Given the description of an element on the screen output the (x, y) to click on. 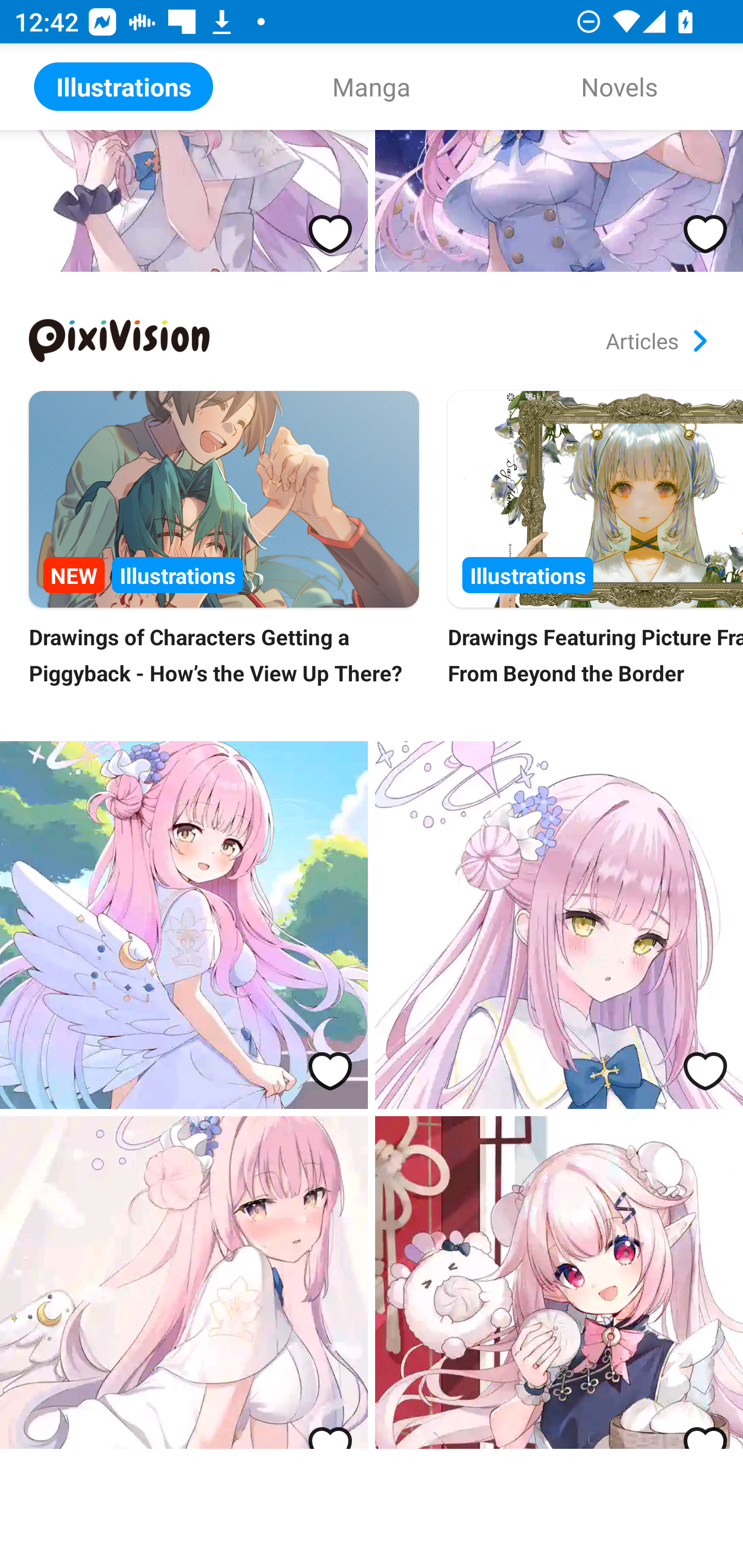
Illustrations (123, 86)
Manga (371, 86)
Novels (619, 86)
Articles (655, 340)
